Given the description of an element on the screen output the (x, y) to click on. 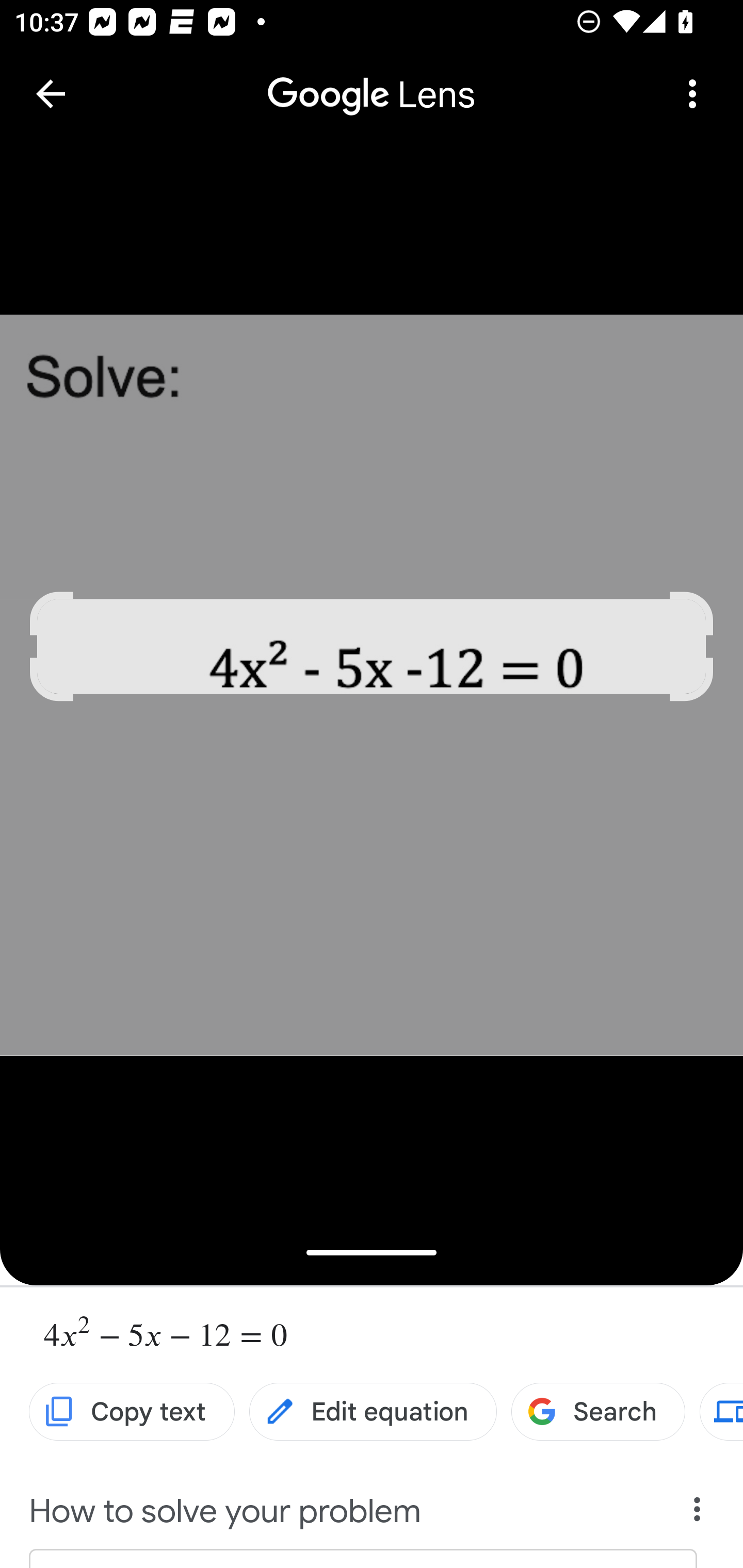
Google Lens Lens (371, 80)
Go back (50, 94)
More options (692, 94)
Copy text (131, 1411)
Edit equation (372, 1411)
Search (598, 1411)
Open privacy policy menu (697, 1513)
